Given the description of an element on the screen output the (x, y) to click on. 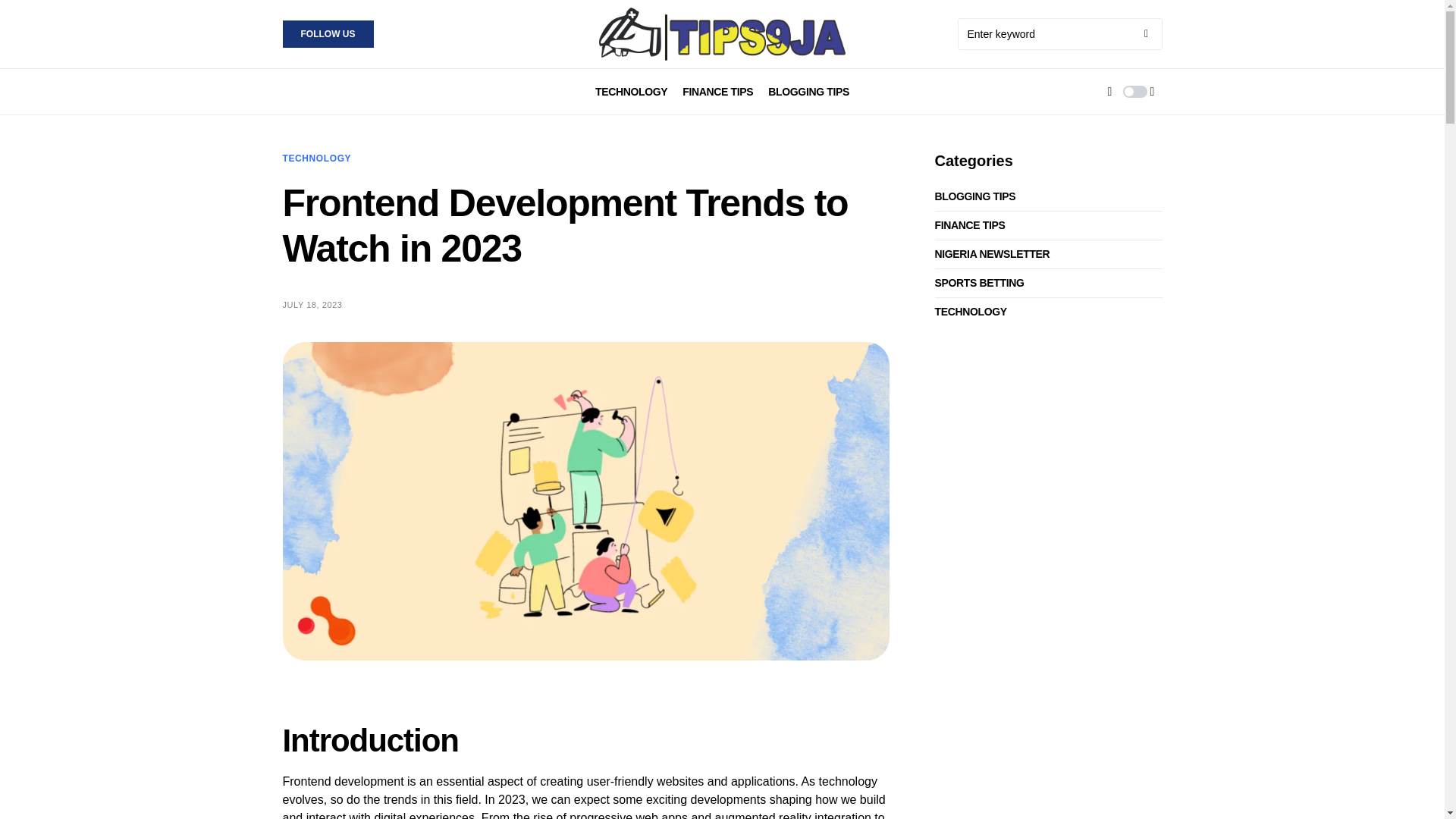
BLOGGING TIPS (808, 91)
FINANCE TIPS (717, 91)
FINANCE TIPS (973, 225)
FOLLOW US (327, 33)
TECHNOLOGY (316, 158)
BLOGGING TIPS (978, 196)
TECHNOLOGY (630, 91)
